Given the description of an element on the screen output the (x, y) to click on. 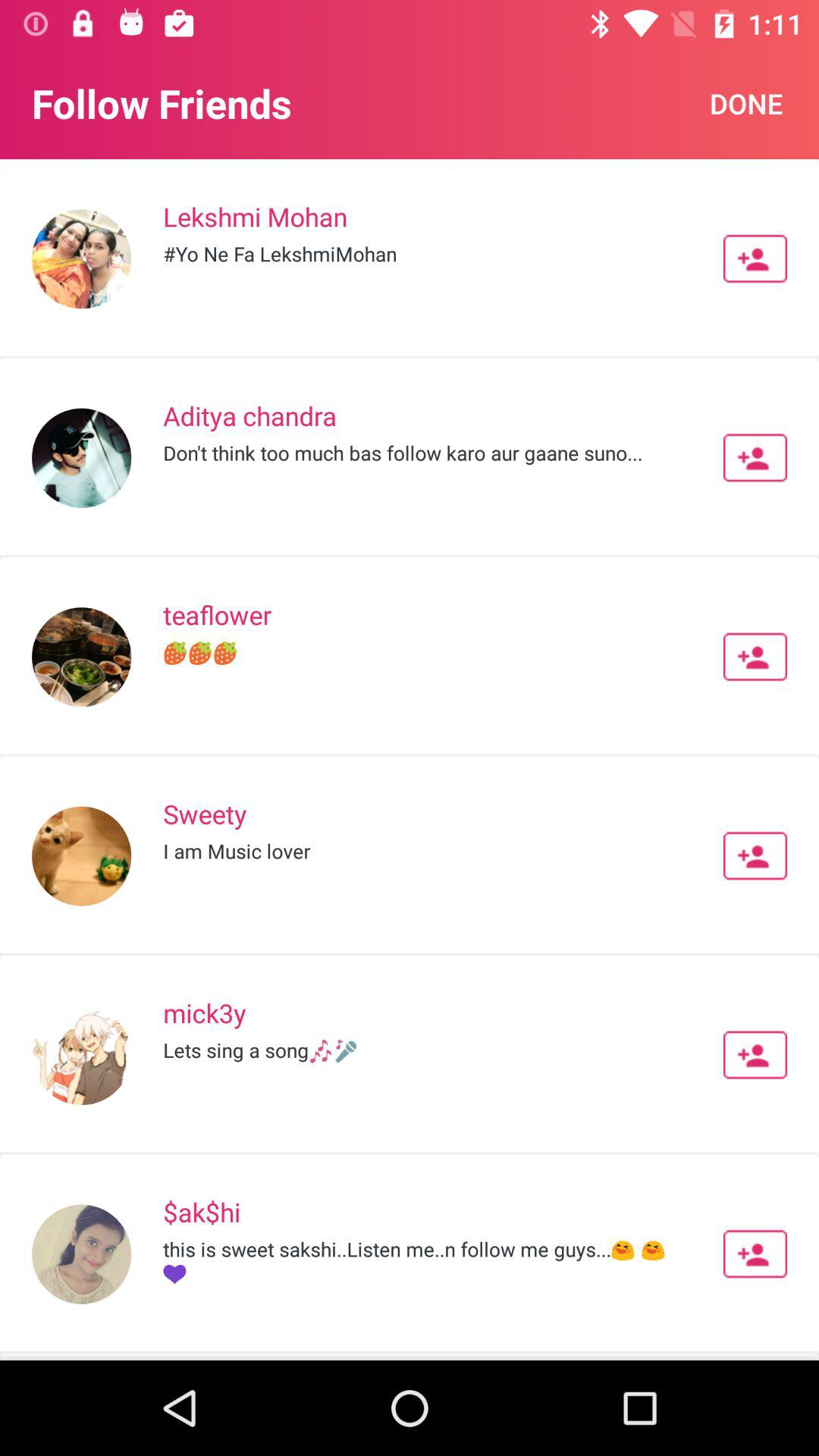
add person button (755, 656)
